Given the description of an element on the screen output the (x, y) to click on. 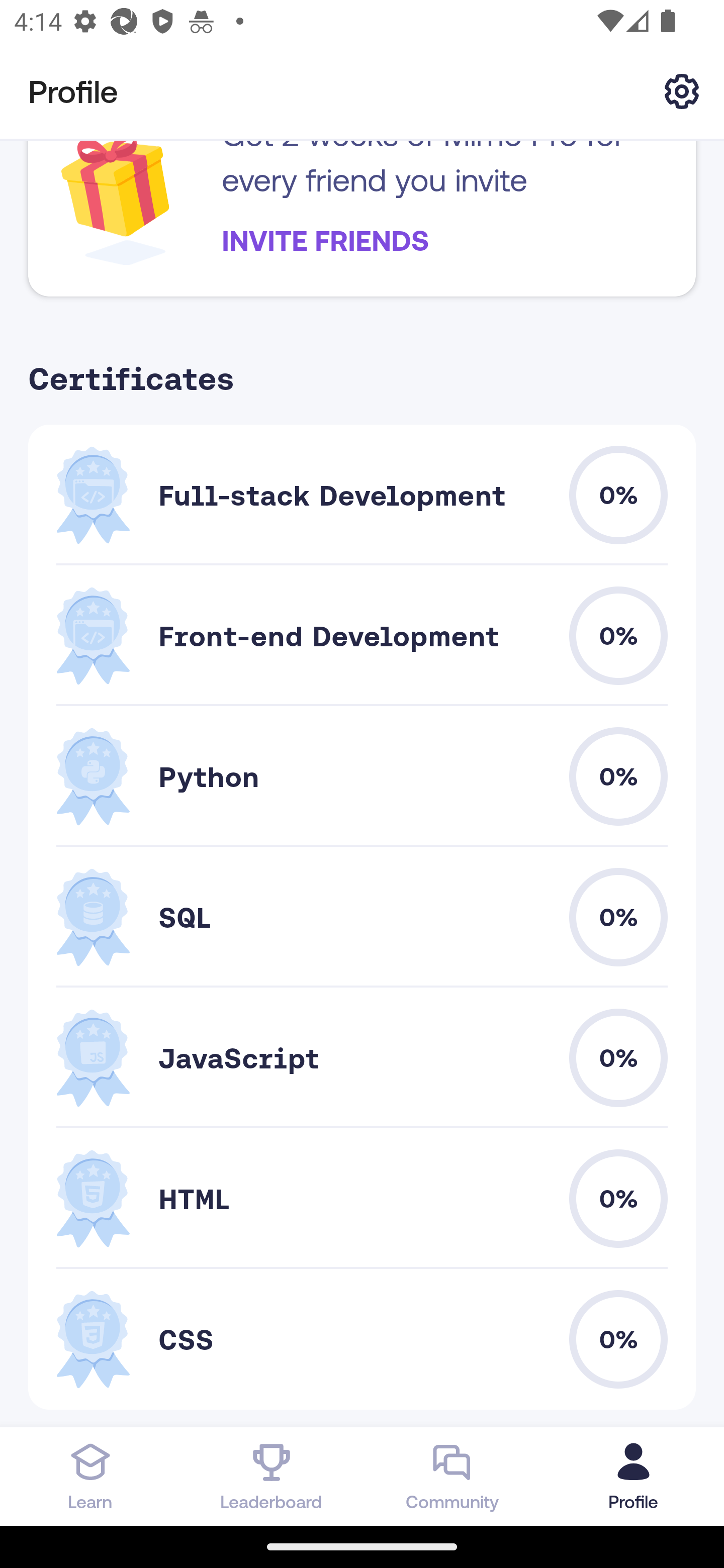
Settings (681, 90)
INVITE FRIENDS (325, 239)
Full-stack Development 0.0 0% (361, 495)
Front-end Development 0.0 0% (361, 635)
Python 0.0 0% (361, 775)
SQL 0.0 0% (361, 916)
JavaScript 0.0 0% (361, 1057)
HTML 0.0 0% (361, 1198)
CSS 0.0 0% (361, 1338)
Learn (90, 1475)
Leaderboard (271, 1475)
Community (452, 1475)
